Given the description of an element on the screen output the (x, y) to click on. 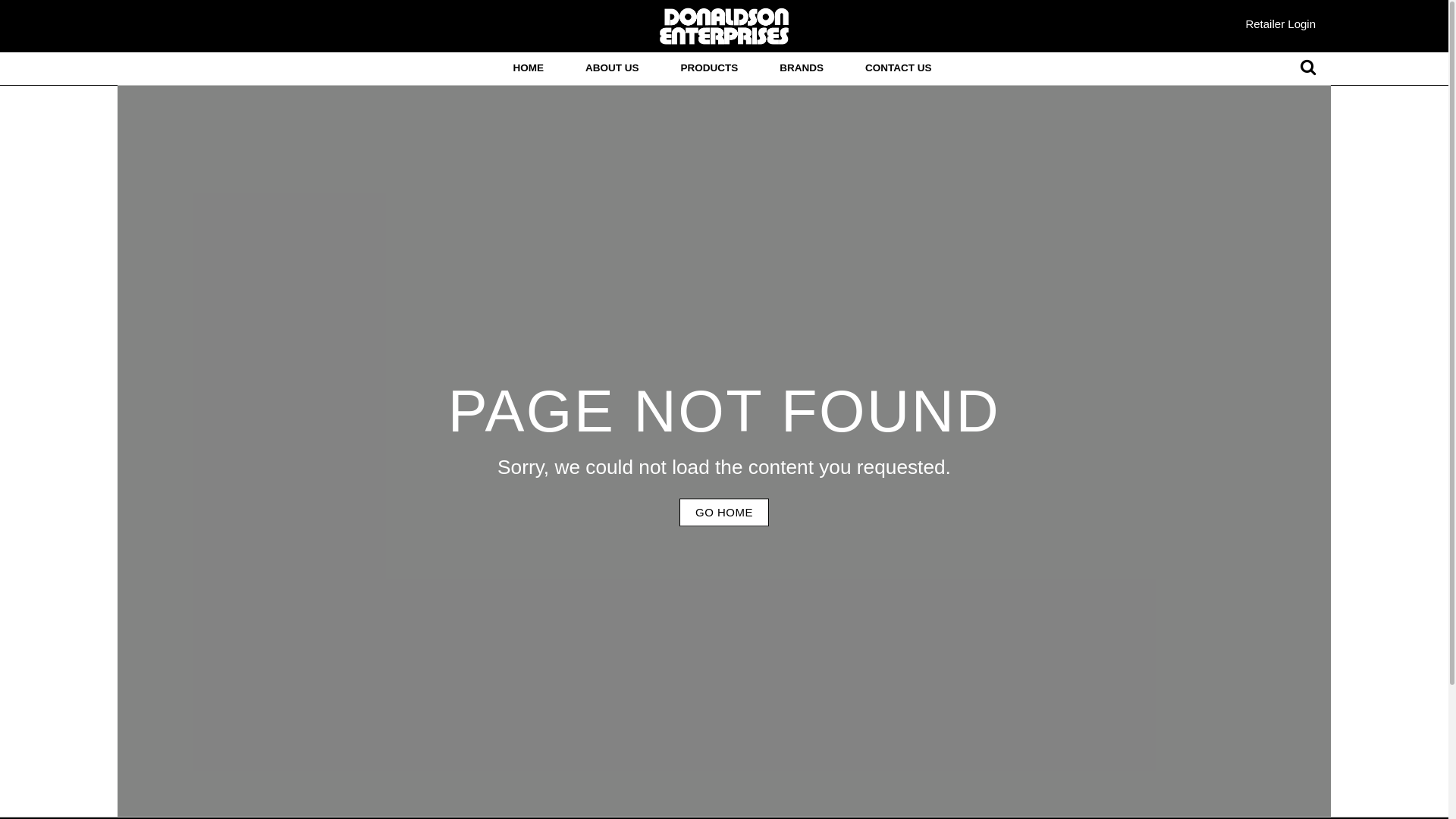
CONTACT US Element type: text (898, 68)
Retailer Login Element type: text (1280, 23)
Donaldson Enterprises Element type: hover (724, 25)
PRODUCTS Element type: text (708, 68)
BRANDS Element type: text (801, 68)
Search Element type: hover (1307, 68)
ABOUT US Element type: text (611, 68)
HOME Element type: text (528, 68)
GO HOME Element type: text (723, 512)
